Given the description of an element on the screen output the (x, y) to click on. 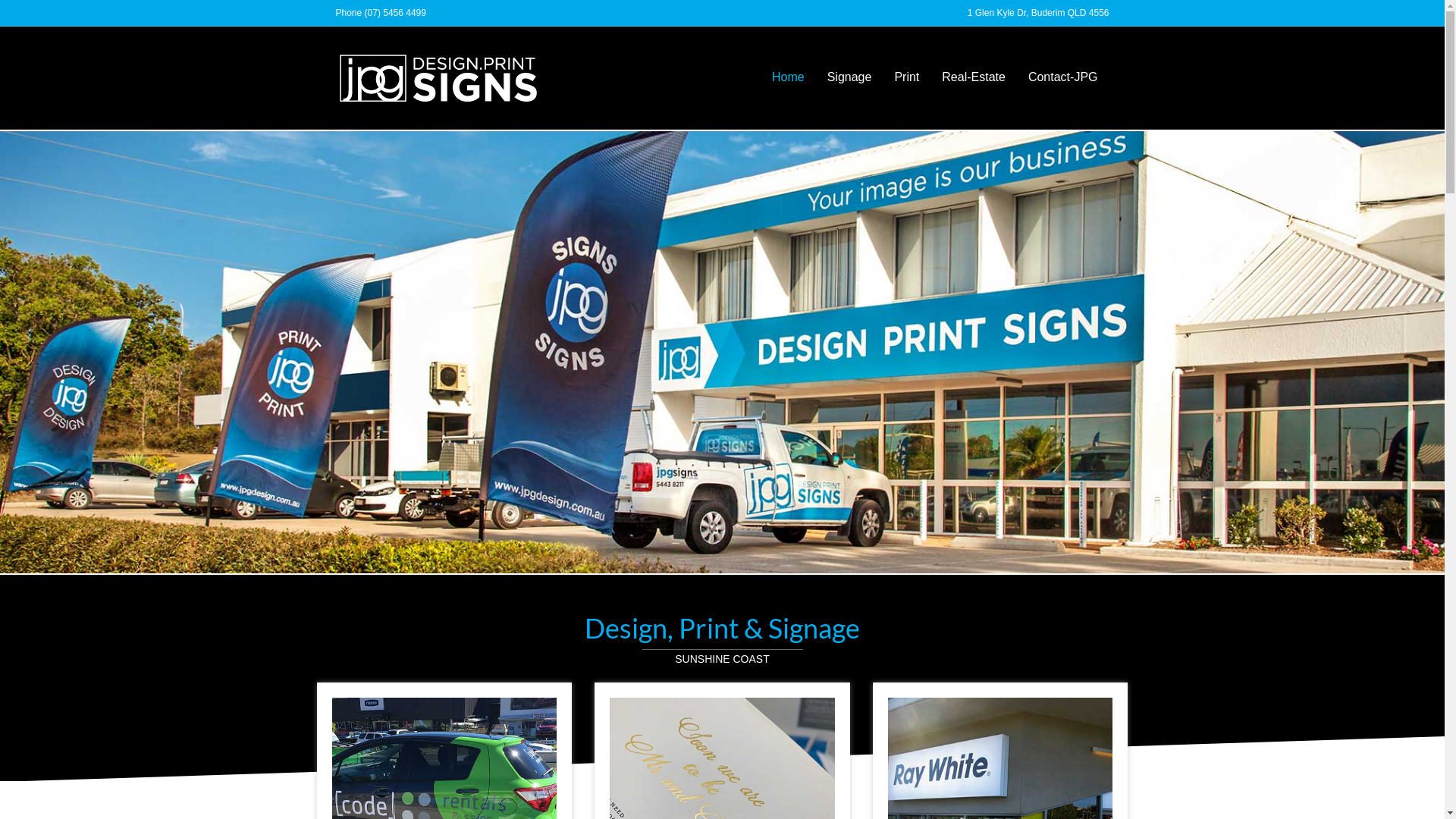
Print Element type: text (906, 77)
Home Element type: text (787, 77)
Phone (07) 5456 4499 Element type: text (380, 12)
JPG-SIGNS-Maroochydore Element type: hover (722, 352)
Contact-JPG Element type: text (1062, 77)
Real-Estate Element type: text (973, 77)
Signage Element type: text (849, 77)
